Given the description of an element on the screen output the (x, y) to click on. 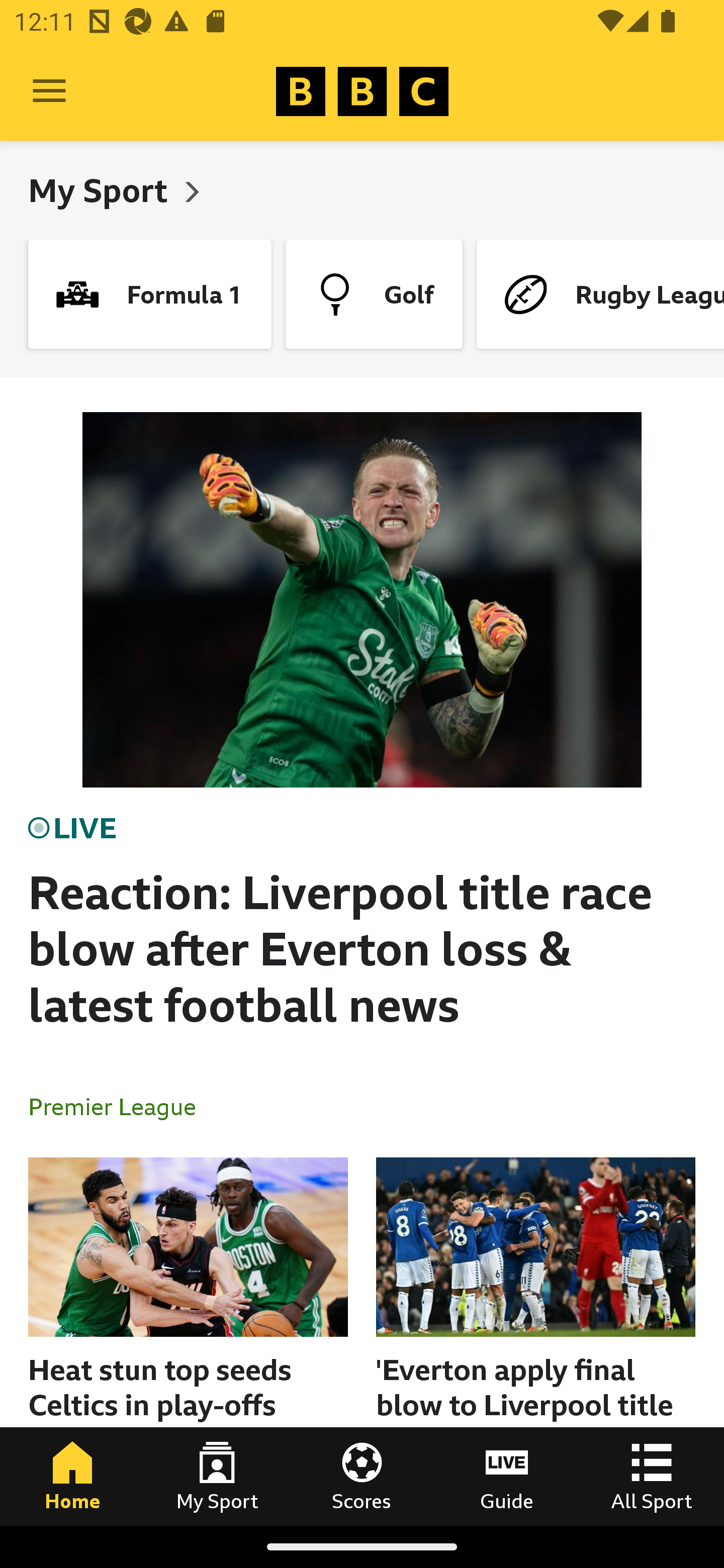
Open Menu (49, 91)
My Sport (101, 190)
Premier League In the section Premier League (119, 1106)
My Sport (216, 1475)
Scores (361, 1475)
Guide (506, 1475)
All Sport (651, 1475)
